Given the description of an element on the screen output the (x, y) to click on. 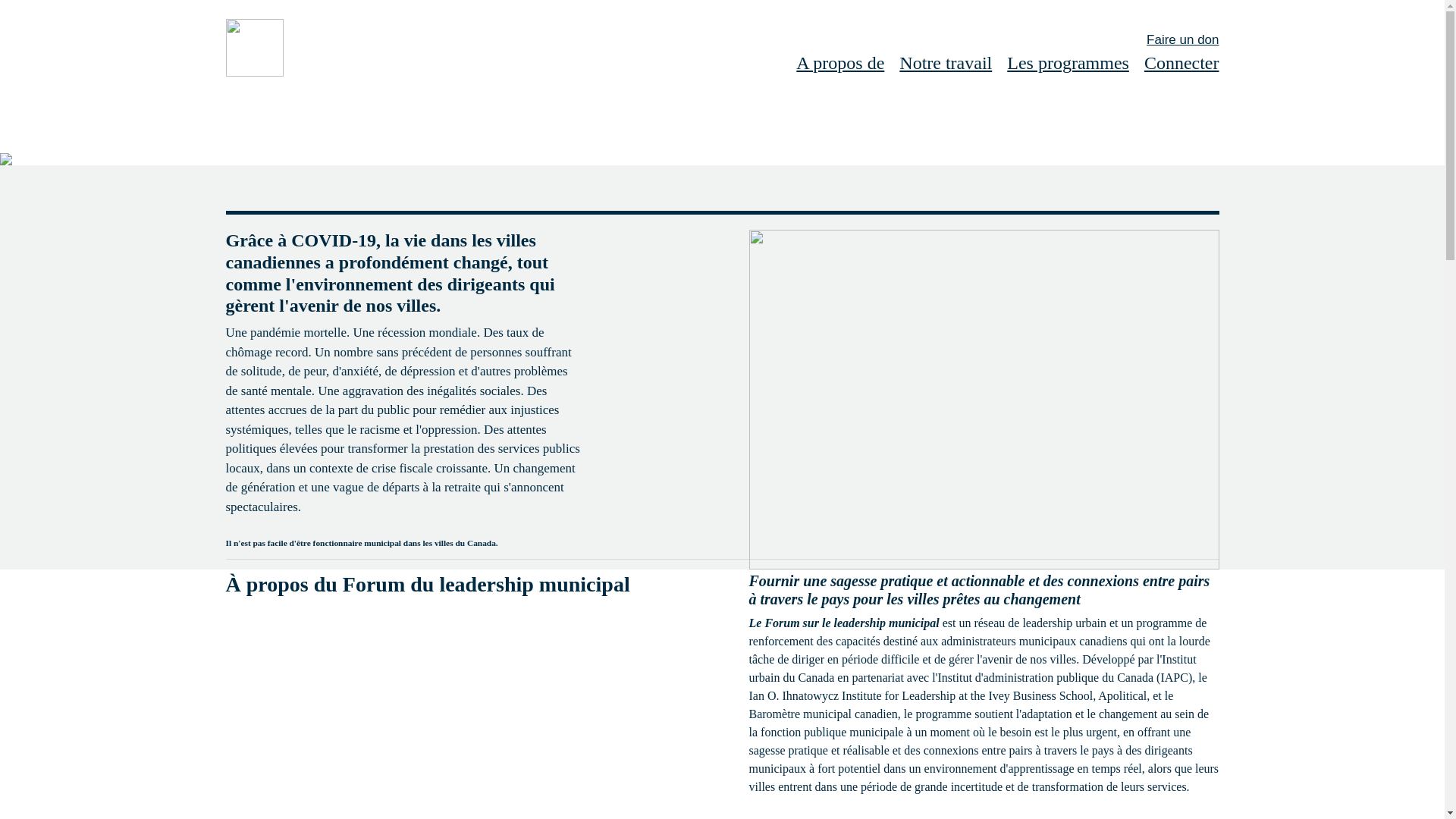
A propos de (840, 63)
Les programmes (1067, 63)
Connecter (1182, 63)
Notre travail (944, 63)
Faire un don (1181, 39)
